Given the description of an element on the screen output the (x, y) to click on. 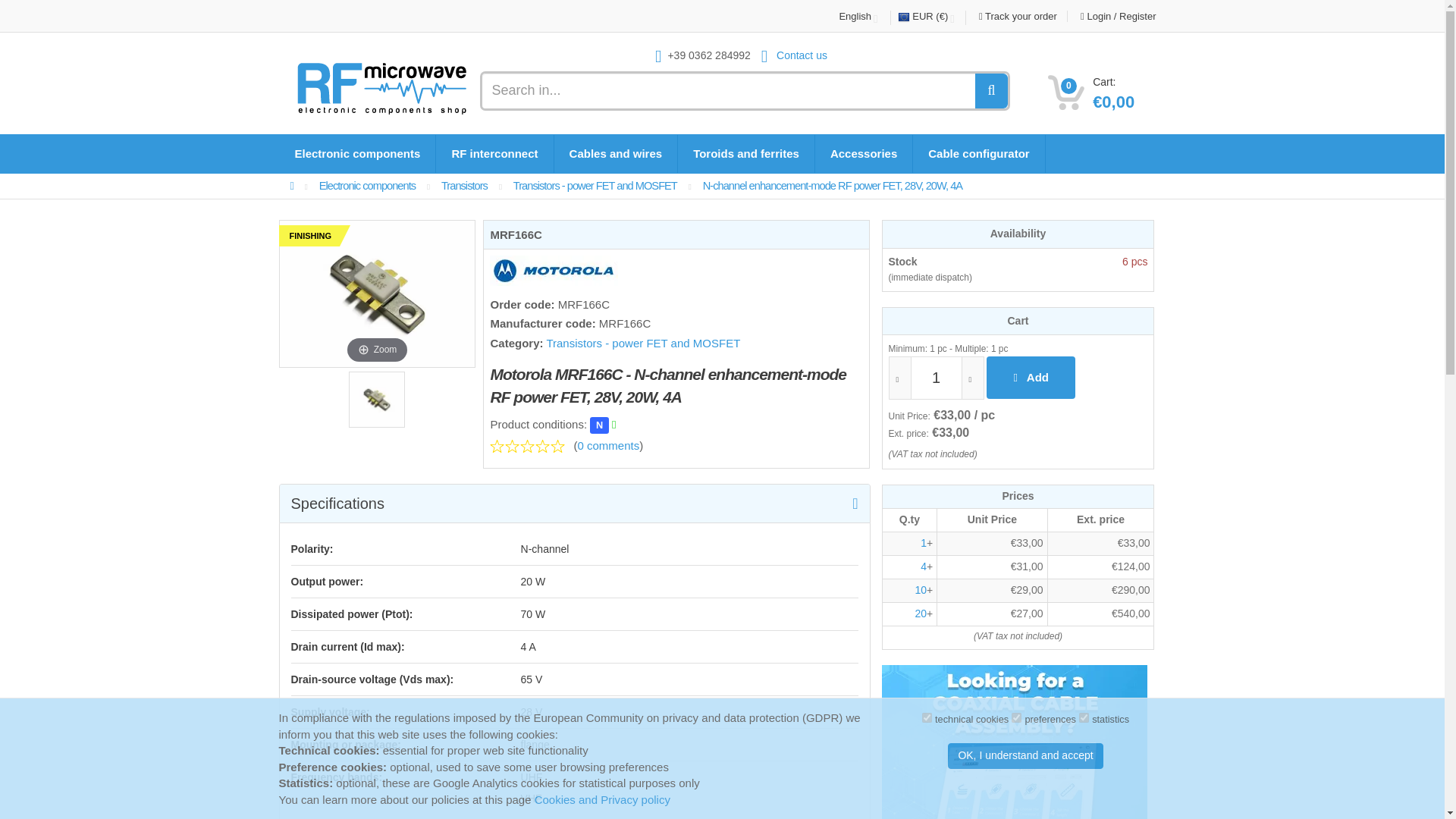
Contact us (794, 55)
Motorola (553, 270)
on (926, 717)
on (1016, 717)
on (1083, 717)
Track your order (1018, 16)
Search (990, 90)
1 (936, 377)
English (863, 17)
